Given the description of an element on the screen output the (x, y) to click on. 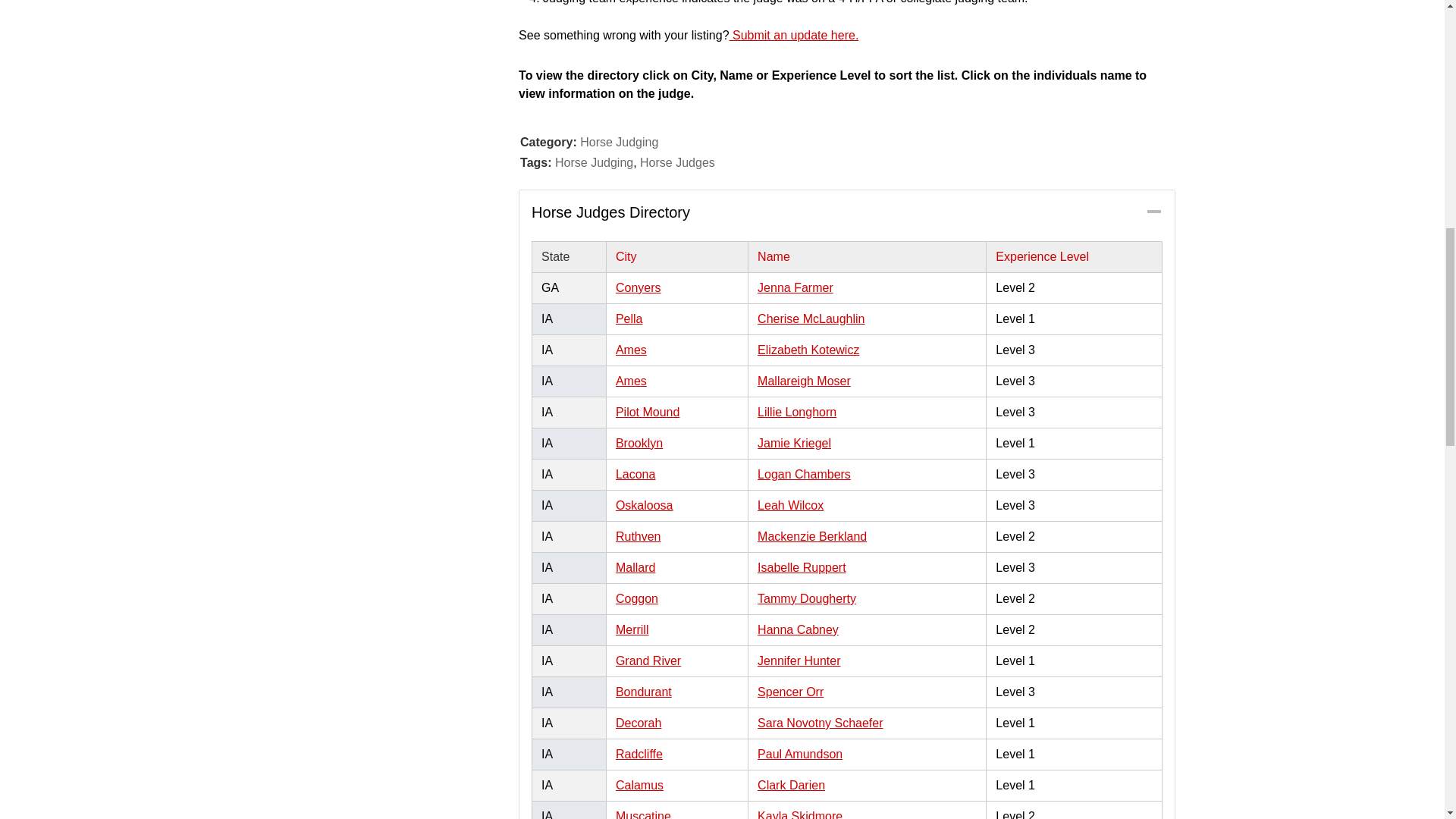
Ames (630, 349)
Submit an update here. (794, 34)
Conyers (638, 287)
sort by City (676, 257)
Name (866, 257)
Pella (629, 318)
sort by Name (866, 257)
Horse Judges (677, 162)
sort by Experience Level (1074, 257)
Cherise McLaughlin (810, 318)
